Given the description of an element on the screen output the (x, y) to click on. 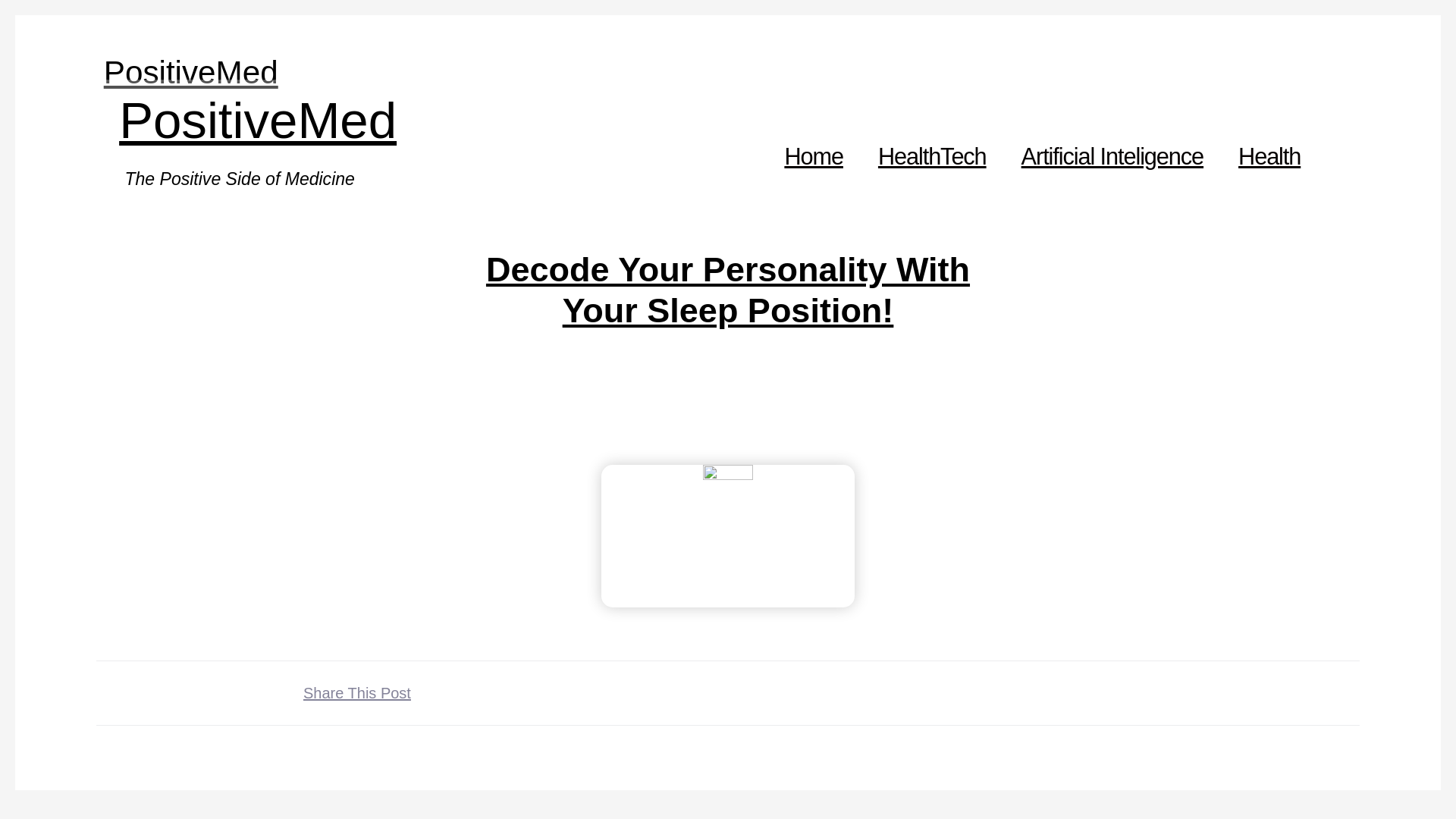
PositiveMed (190, 72)
Home (812, 156)
Artificial Inteligence (1111, 156)
Health (1268, 156)
HealthTech (932, 156)
